Given the description of an element on the screen output the (x, y) to click on. 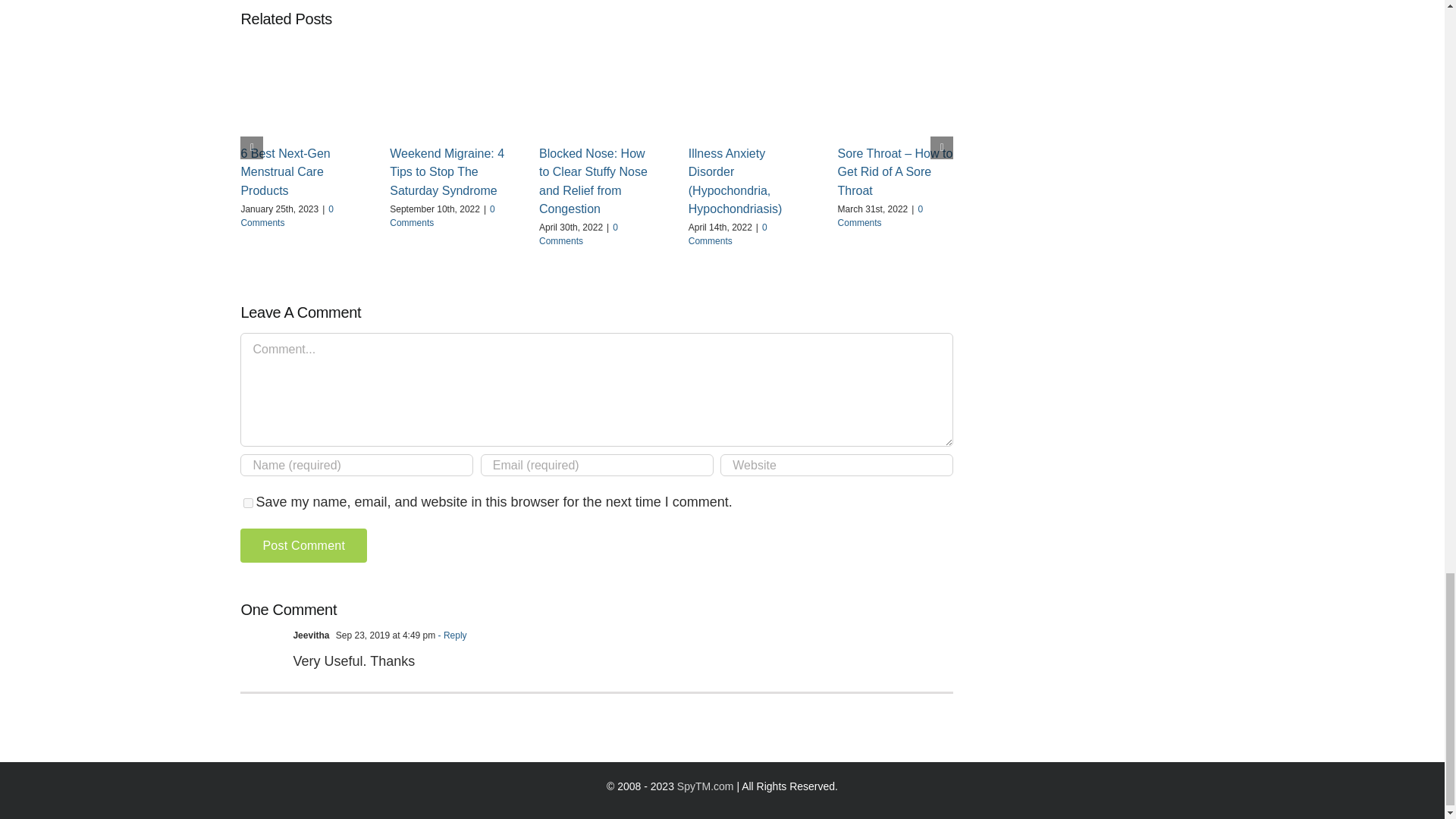
Banish Morning Fatigue to Supercharge Your Mornings 2 (298, 91)
Banish Morning Fatigue to Supercharge Your Mornings 3 (447, 91)
Weekend Migraine: 4 Tips to Stop The Saturday Syndrome (446, 172)
0 Comments (577, 233)
6 Best Next-Gen Menstrual Care Products (285, 172)
Banish Morning Fatigue to Supercharge Your Mornings 7 (260, 649)
Banish Morning Fatigue to Supercharge Your Mornings 6 (895, 91)
Banish Morning Fatigue to Supercharge Your Mornings 5 (746, 91)
Banish Morning Fatigue to Supercharge Your Mornings 4 (596, 91)
